Given the description of an element on the screen output the (x, y) to click on. 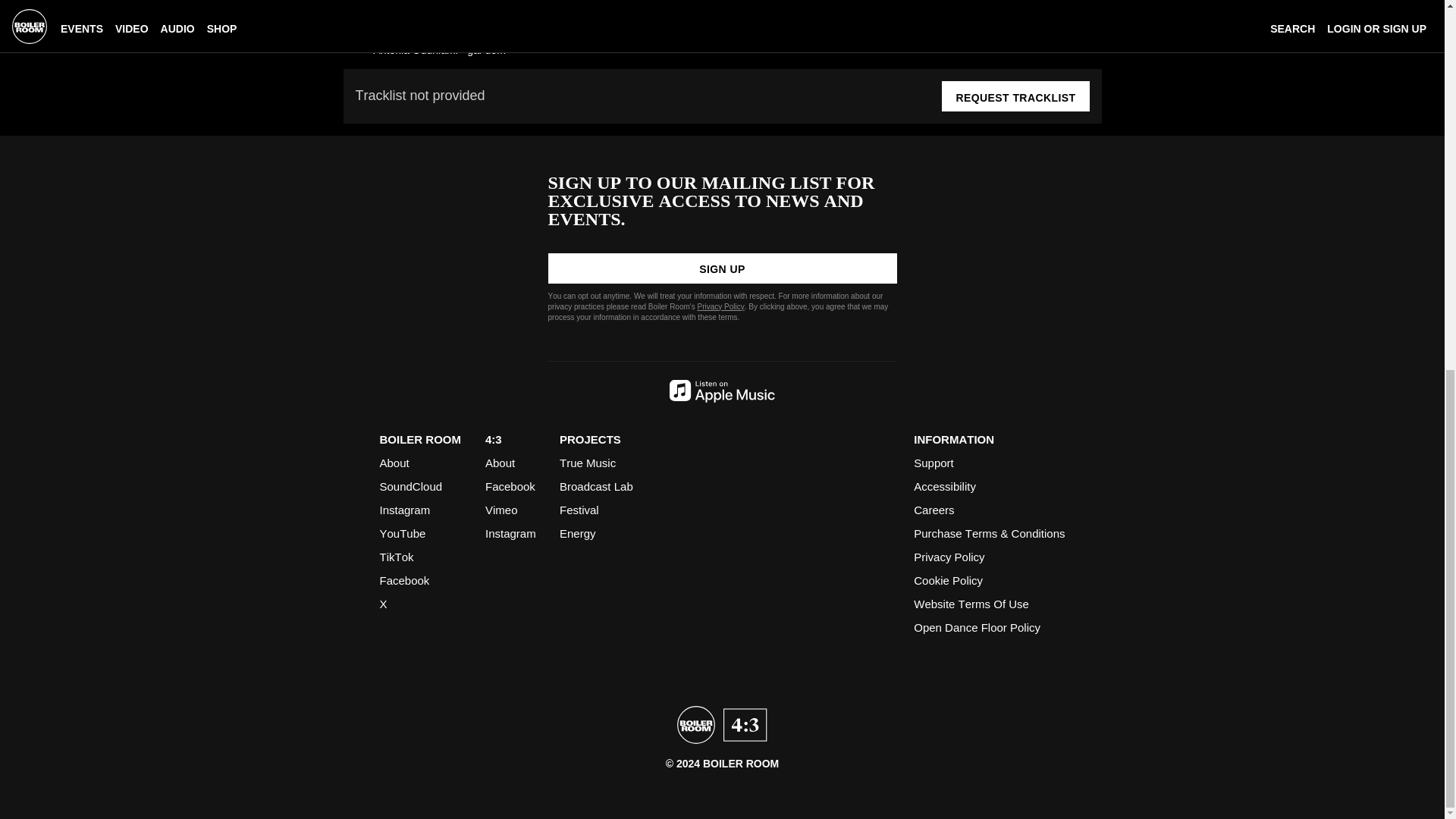
YouTube (401, 533)
4:3 (493, 439)
Energy (577, 533)
Careers (933, 509)
Instagram (509, 533)
Festival (578, 509)
BOILER ROOM (419, 439)
SoundCloud (410, 486)
Facebook (403, 580)
Vimeo (501, 509)
Cookie Policy (948, 580)
Broadcast Lab (596, 486)
SIGN UP (721, 268)
Accessibility (944, 486)
Facebook (509, 486)
